Given the description of an element on the screen output the (x, y) to click on. 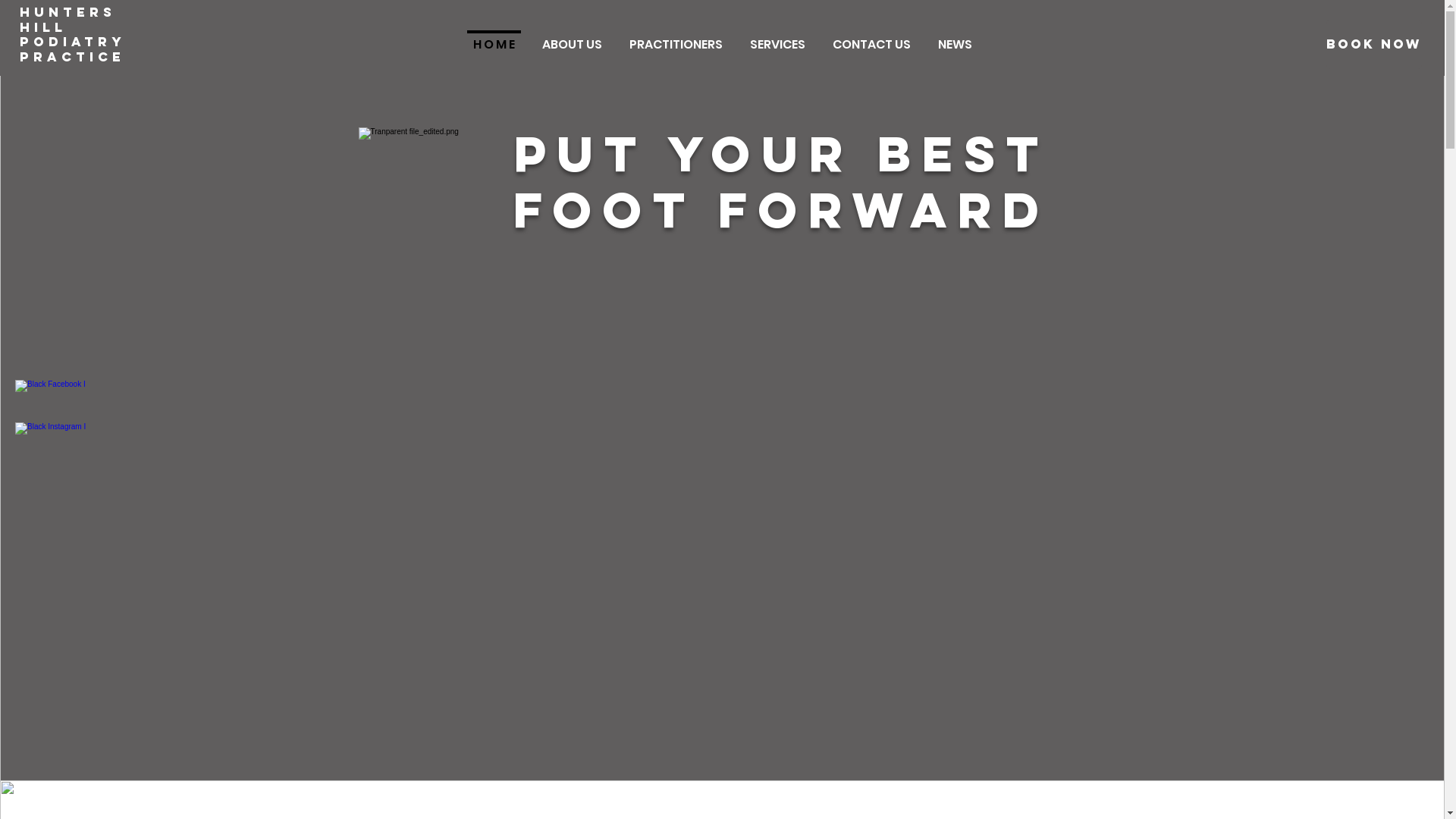
H O M E Element type: text (493, 37)
CONTACT US Element type: text (871, 37)
ABOUT US Element type: text (571, 37)
NEWS Element type: text (954, 37)
Book Now Element type: text (1373, 44)
Hunters Hill Element type: text (67, 19)
PRACTITIONERS Element type: text (675, 37)
SERVICES Element type: text (776, 37)
